Given the description of an element on the screen output the (x, y) to click on. 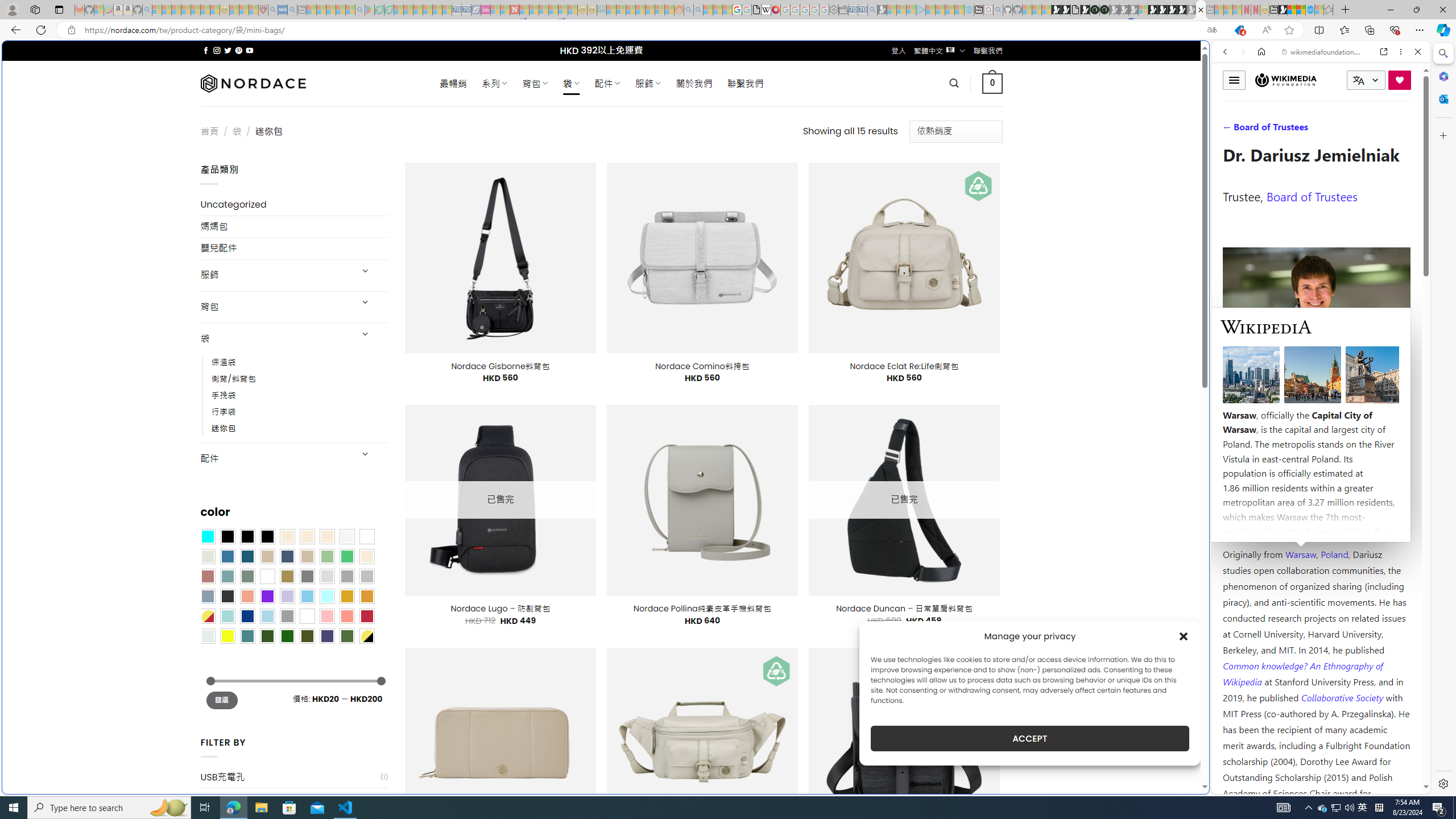
World - MSN (727, 389)
Favorites - Sleeping (1328, 9)
Expert Portfolios - Sleeping (639, 9)
Future Focus Report 2024 (1103, 9)
Cream (327, 536)
